Given the description of an element on the screen output the (x, y) to click on. 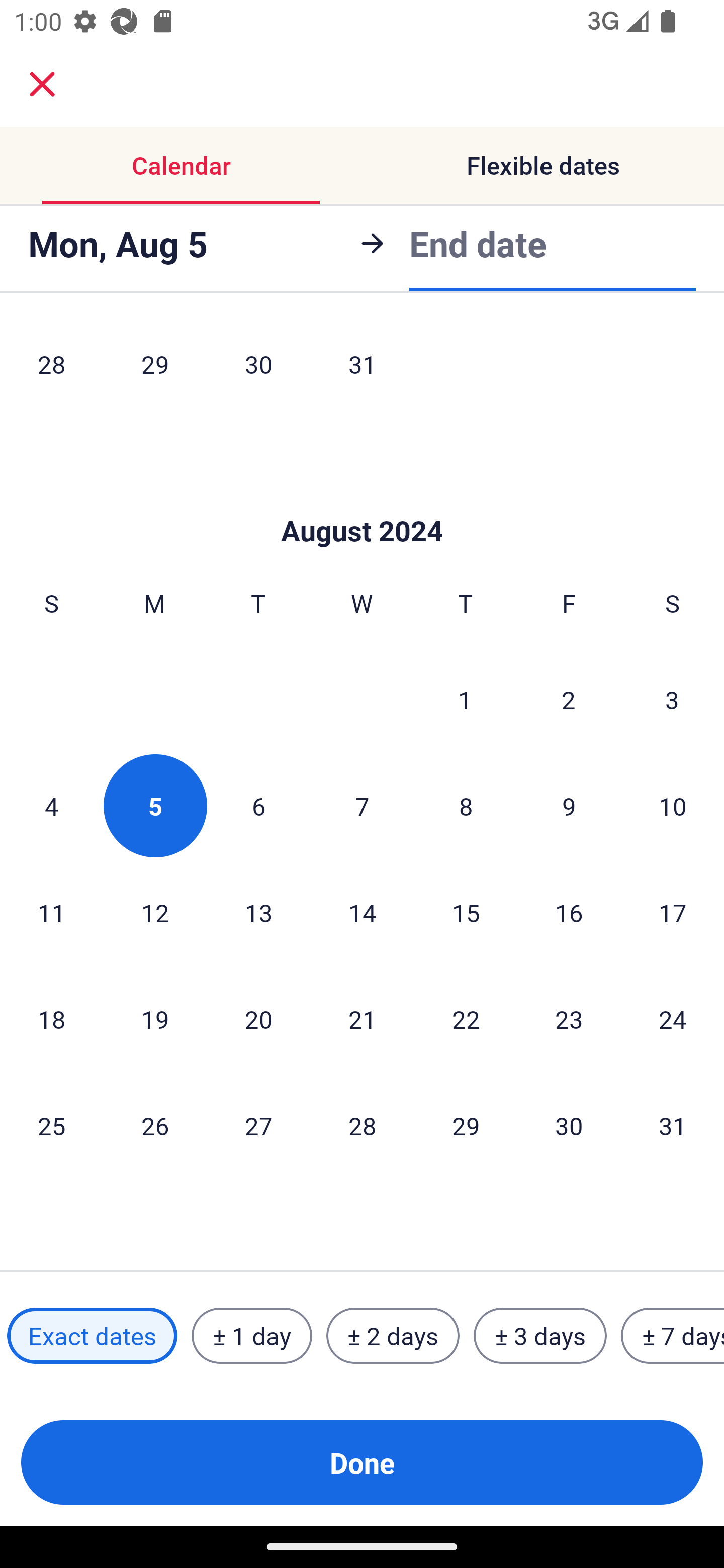
close. (42, 84)
Flexible dates (542, 164)
End date (477, 243)
28 Sunday, July 28, 2024 (51, 368)
29 Monday, July 29, 2024 (155, 368)
30 Tuesday, July 30, 2024 (258, 368)
31 Wednesday, July 31, 2024 (362, 368)
Skip to Done (362, 500)
1 Thursday, August 1, 2024 (464, 699)
2 Friday, August 2, 2024 (568, 699)
3 Saturday, August 3, 2024 (672, 699)
4 Sunday, August 4, 2024 (51, 805)
6 Tuesday, August 6, 2024 (258, 805)
7 Wednesday, August 7, 2024 (362, 805)
8 Thursday, August 8, 2024 (465, 805)
9 Friday, August 9, 2024 (569, 805)
10 Saturday, August 10, 2024 (672, 805)
11 Sunday, August 11, 2024 (51, 912)
12 Monday, August 12, 2024 (155, 912)
13 Tuesday, August 13, 2024 (258, 912)
14 Wednesday, August 14, 2024 (362, 912)
15 Thursday, August 15, 2024 (465, 912)
16 Friday, August 16, 2024 (569, 912)
17 Saturday, August 17, 2024 (672, 912)
18 Sunday, August 18, 2024 (51, 1018)
19 Monday, August 19, 2024 (155, 1018)
20 Tuesday, August 20, 2024 (258, 1018)
21 Wednesday, August 21, 2024 (362, 1018)
22 Thursday, August 22, 2024 (465, 1018)
23 Friday, August 23, 2024 (569, 1018)
24 Saturday, August 24, 2024 (672, 1018)
25 Sunday, August 25, 2024 (51, 1125)
26 Monday, August 26, 2024 (155, 1125)
27 Tuesday, August 27, 2024 (258, 1125)
28 Wednesday, August 28, 2024 (362, 1125)
29 Thursday, August 29, 2024 (465, 1125)
30 Friday, August 30, 2024 (569, 1125)
31 Saturday, August 31, 2024 (672, 1125)
Exact dates (92, 1335)
± 1 day (251, 1335)
± 2 days (392, 1335)
± 3 days (539, 1335)
± 7 days (672, 1335)
Done (361, 1462)
